Given the description of an element on the screen output the (x, y) to click on. 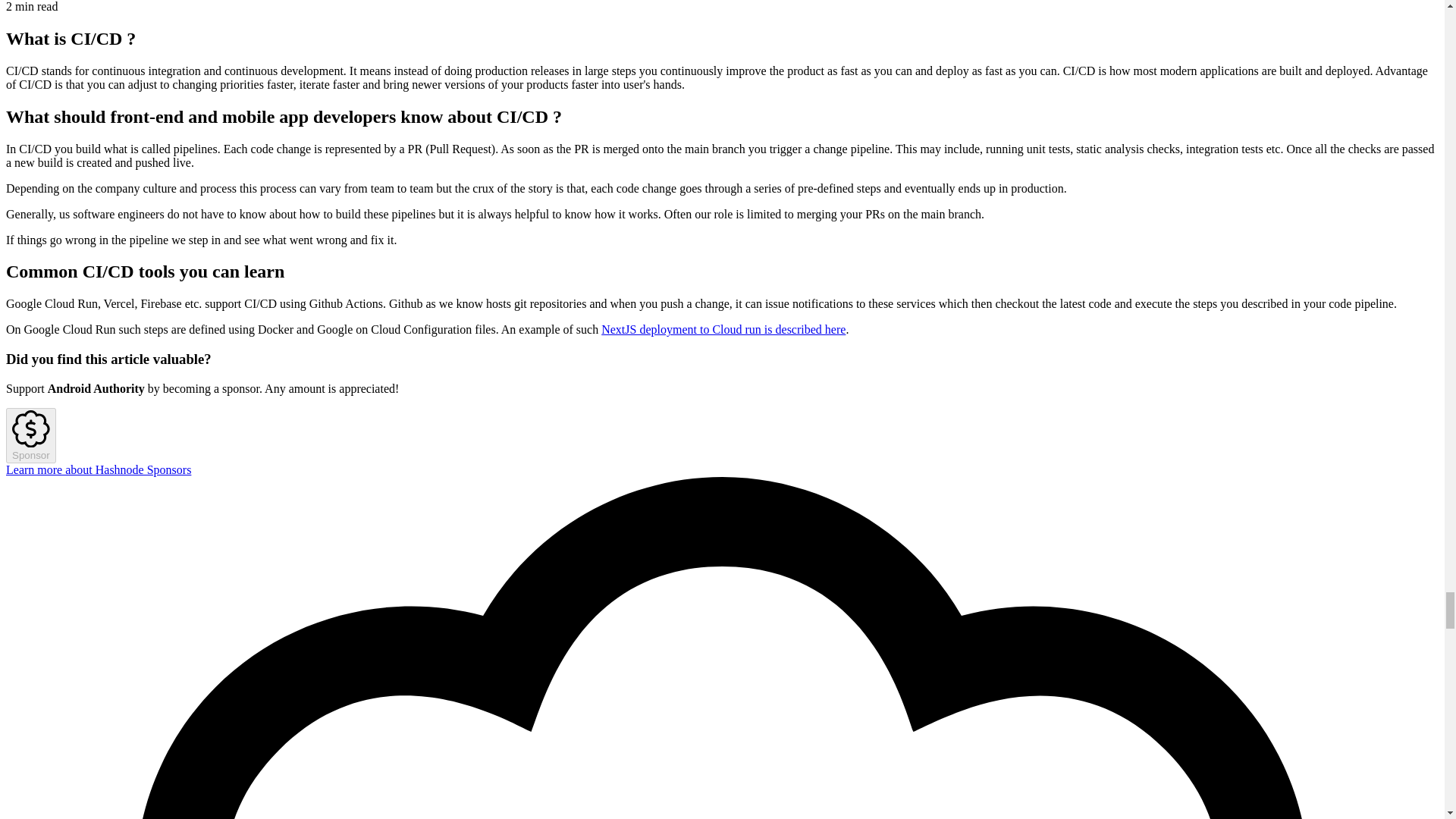
NextJS deployment to Cloud run is described here (723, 328)
Learn more about Hashnode Sponsors (97, 469)
Sponsor (30, 435)
